Given the description of an element on the screen output the (x, y) to click on. 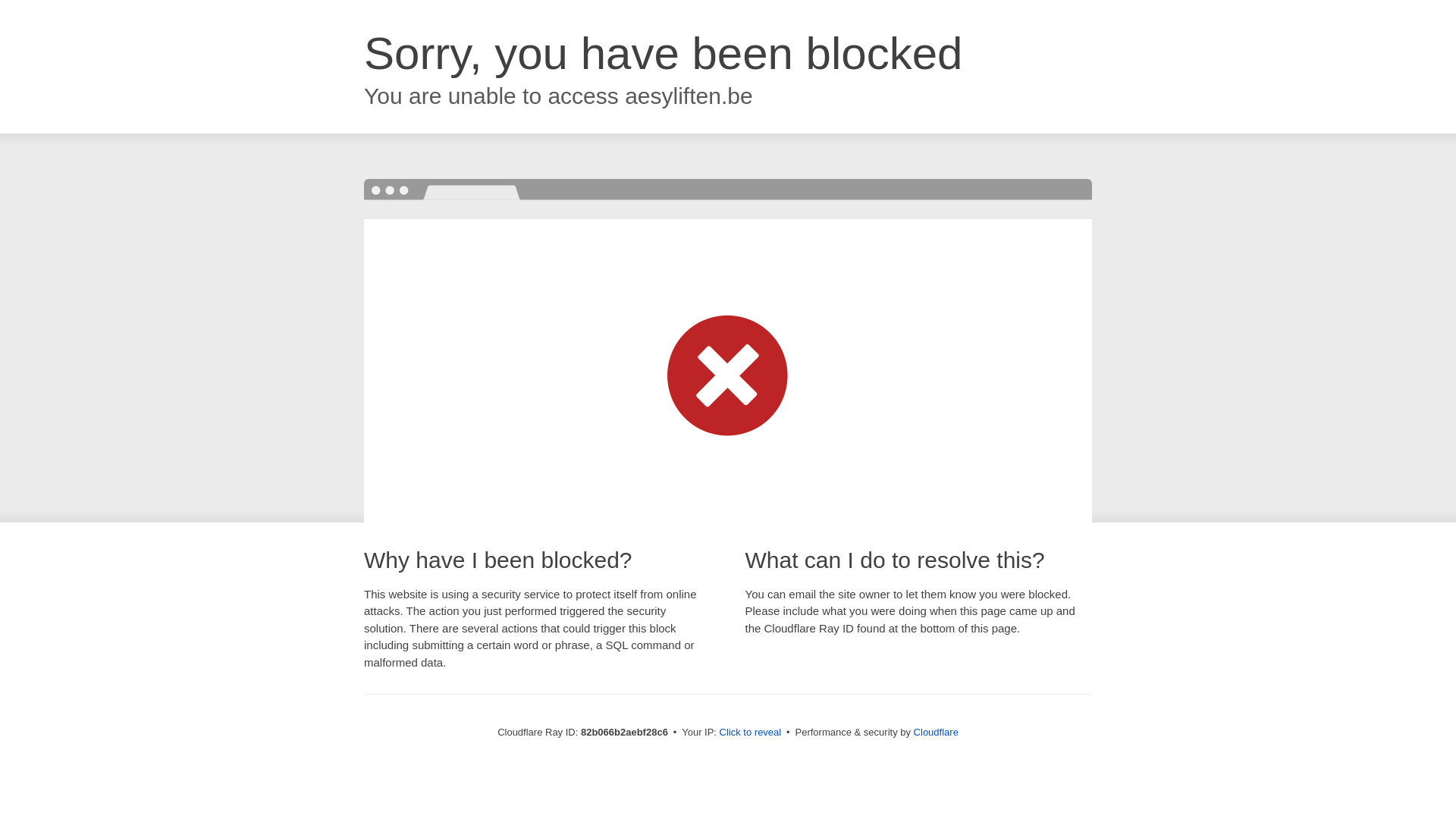
Cloudflare Element type: text (935, 731)
Click to reveal Element type: text (750, 732)
